Given the description of an element on the screen output the (x, y) to click on. 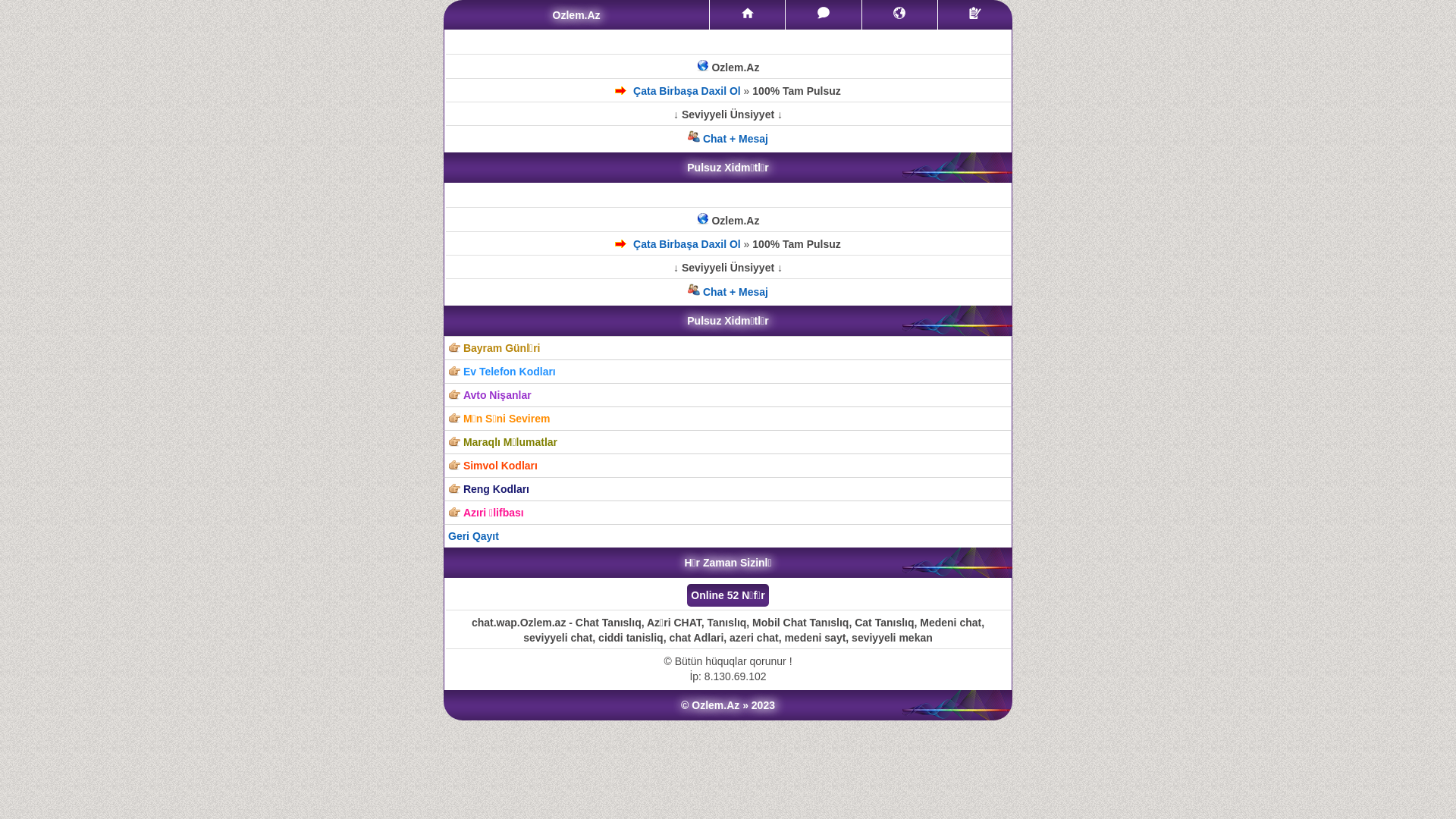
Mesajlar Element type: hover (822, 14)
Chat + Mesaj Element type: text (727, 138)
Bildirisler Element type: hover (899, 14)
Qeydiyyat Element type: hover (974, 14)
Chat + Mesaj Element type: text (727, 291)
Bildirisler Element type: hover (899, 12)
Mesajlar Element type: hover (823, 12)
Qeydiyyat Element type: hover (975, 12)
